Given the description of an element on the screen output the (x, y) to click on. 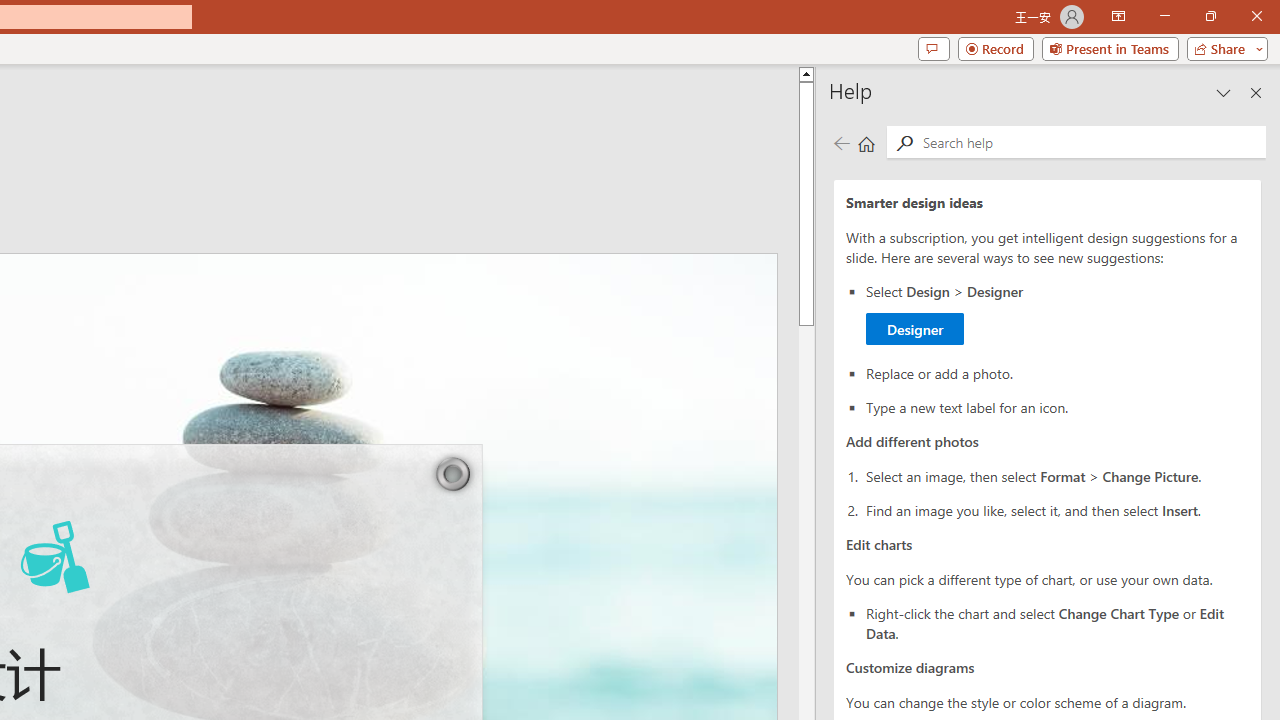
Select an image, then select Format > Change Picture. (1057, 475)
Type a new text label for an icon. (1057, 406)
